Given the description of an element on the screen output the (x, y) to click on. 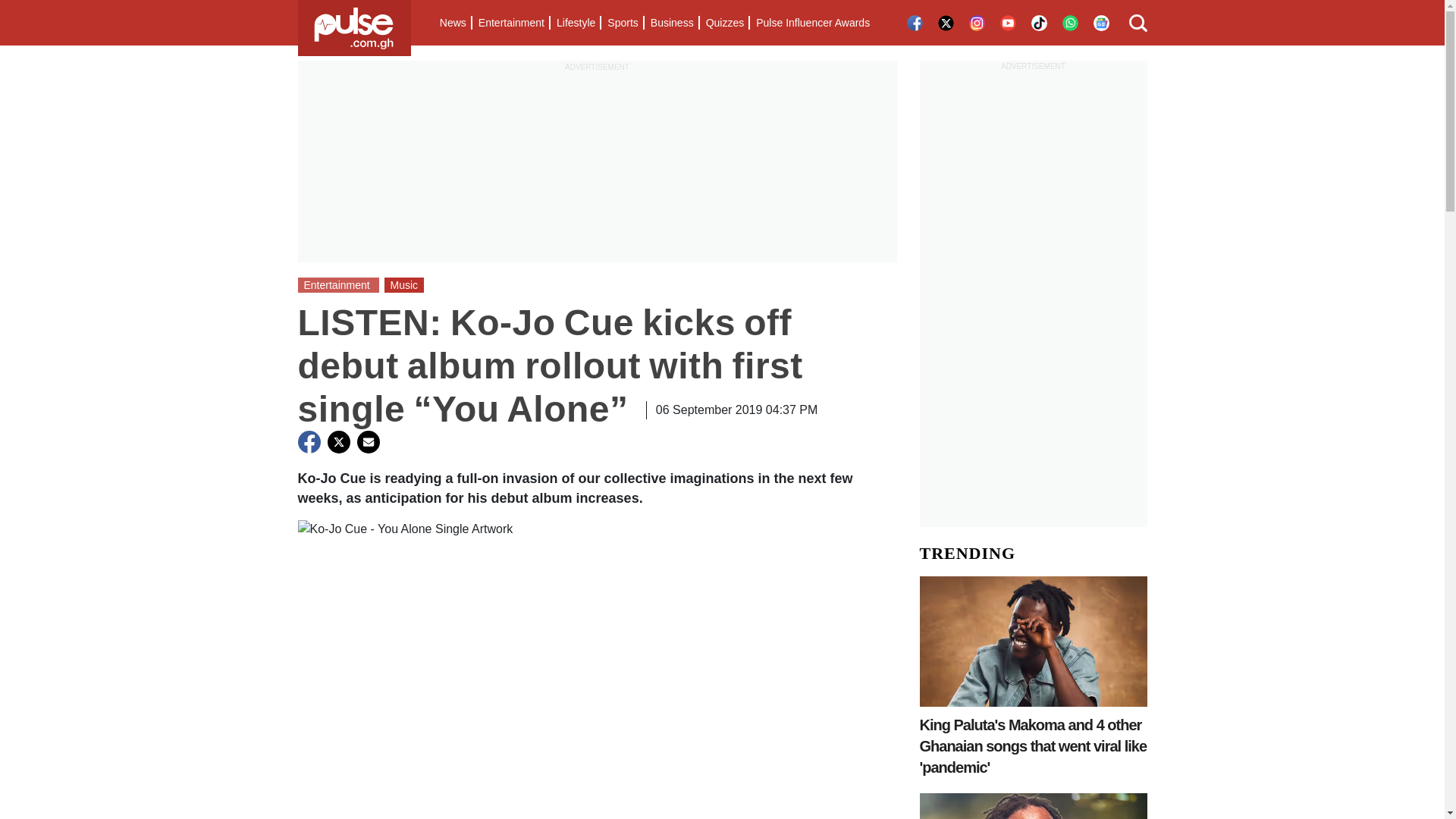
Entertainment (510, 22)
Lifestyle (575, 22)
Sports (622, 22)
Business (672, 22)
